Given the description of an element on the screen output the (x, y) to click on. 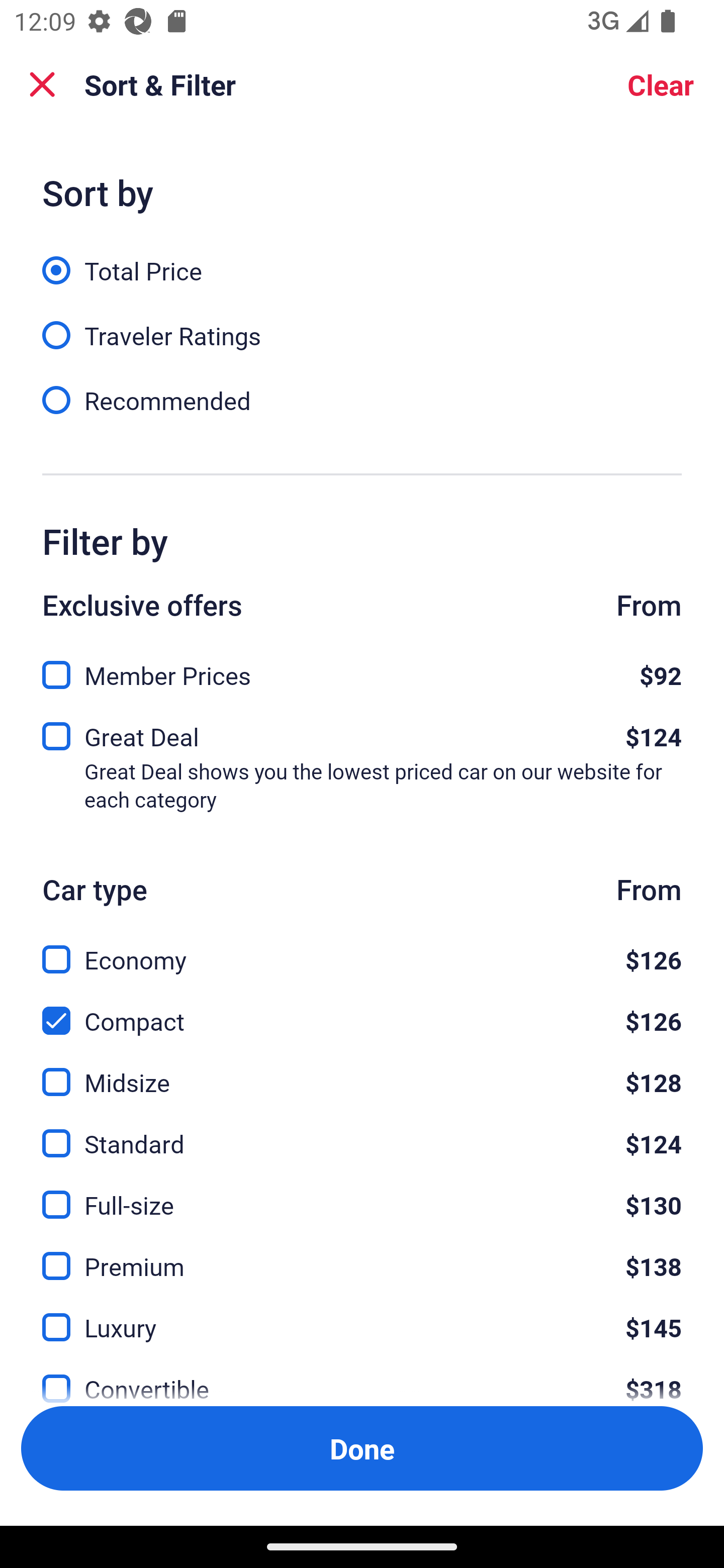
Close Sort and Filter (42, 84)
Clear (660, 84)
Traveler Ratings (361, 324)
Recommended (361, 398)
Member Prices, $92 Member Prices $92 (361, 669)
Economy, $126 Economy $126 (361, 947)
Compact, $126 Compact $126 (361, 1008)
Midsize, $128 Midsize $128 (361, 1070)
Standard, $124 Standard $124 (361, 1132)
Full-size, $130 Full-size $130 (361, 1193)
Premium, $138 Premium $138 (361, 1254)
Luxury, $145 Luxury $145 (361, 1315)
Convertible, $318 Convertible $318 (361, 1376)
Apply and close Sort and Filter Done (361, 1448)
